Given the description of an element on the screen output the (x, y) to click on. 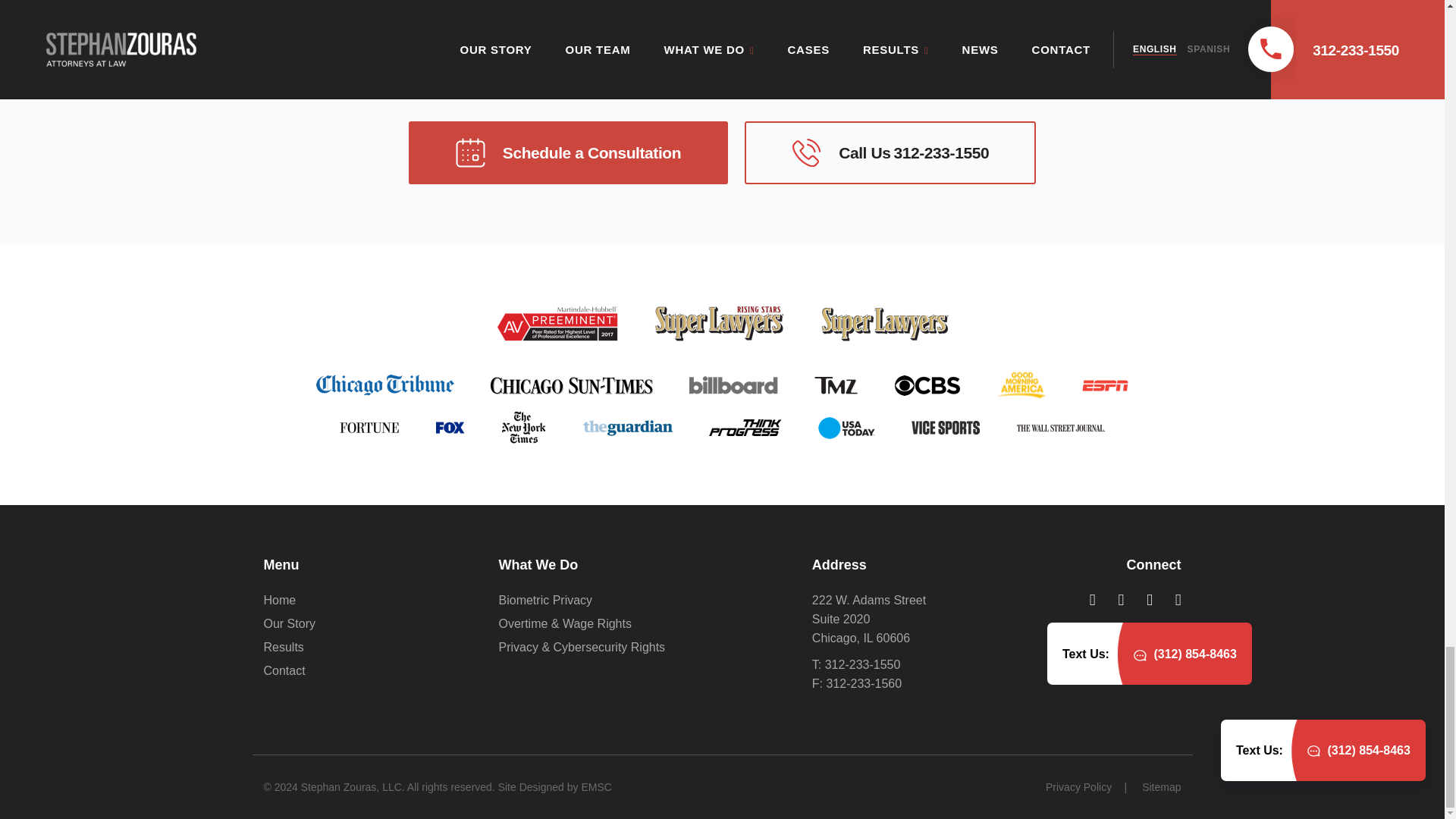
T: 312-233-1550 (889, 152)
Home (918, 664)
Our Story (918, 618)
Biometric Privacy (369, 600)
Contact (369, 623)
Schedule a Consultation (644, 600)
Results (369, 671)
